Given the description of an element on the screen output the (x, y) to click on. 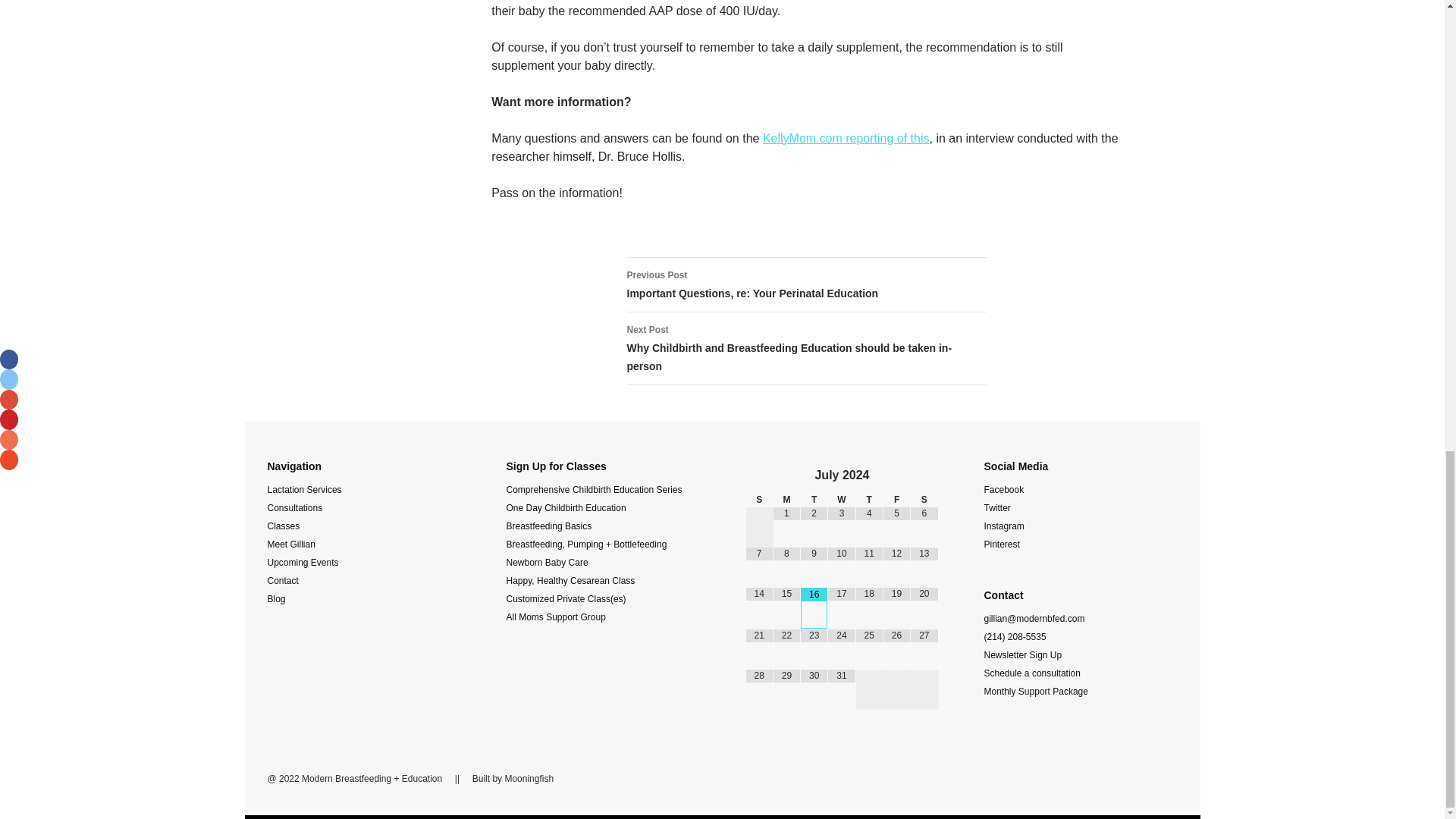
Contact (282, 580)
Classes (282, 525)
Meet Gillian (290, 543)
KellyMom.com reporting of this (846, 137)
Next Month (924, 476)
Consultations (293, 507)
Previous Month (759, 476)
Upcoming Events (301, 562)
Comprehensive Childbirth Education Series (594, 489)
Blog (275, 598)
Lactation Services (303, 489)
